Given the description of an element on the screen output the (x, y) to click on. 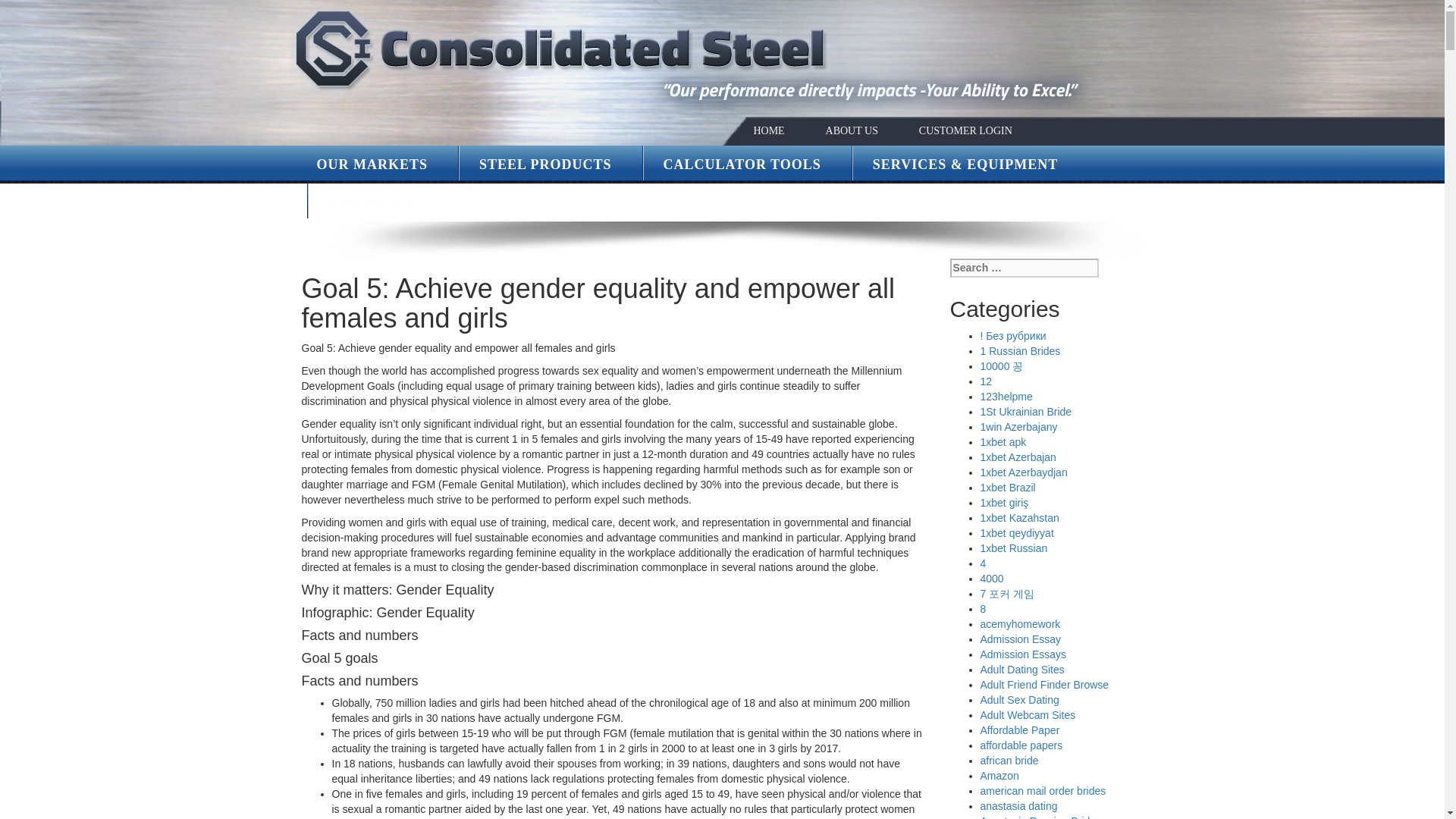
1xbet qeydiyyat (1015, 532)
CONTACT US (375, 202)
1xbet Brazil (1007, 487)
1win Azerbajany (1018, 426)
12 (985, 381)
CUSTOMER LOGIN (964, 130)
1xbet Azerbajan (1017, 457)
HOME (768, 130)
1 Russian Brides (1019, 350)
123helpme (1005, 396)
CALCULATOR TOOLS (742, 164)
1xbet Kazahstan (1018, 517)
1xbet apk (1002, 441)
OUR MARKETS (372, 164)
